Given the description of an element on the screen output the (x, y) to click on. 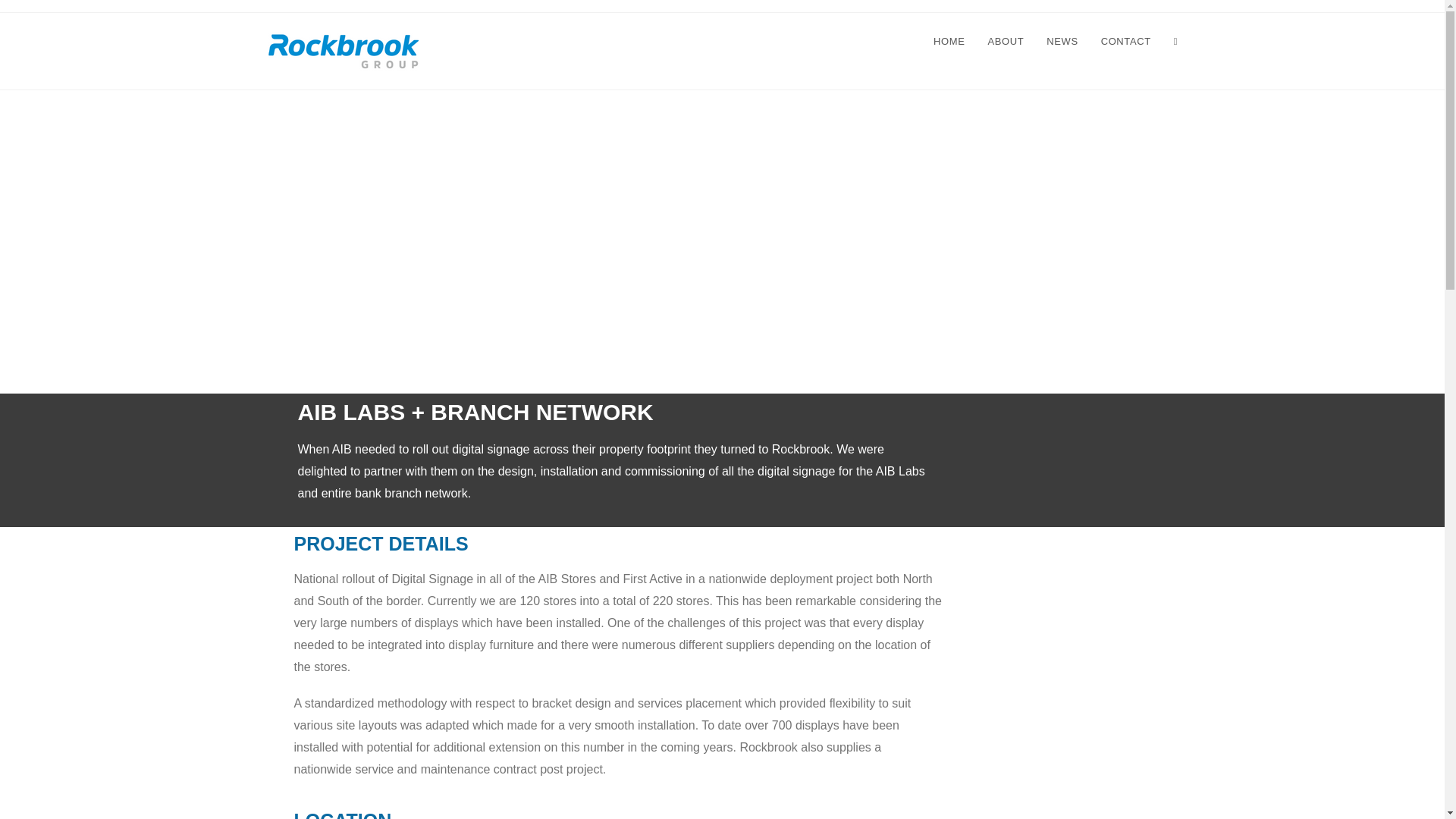
CONTACT (1125, 41)
ABOUT (1005, 41)
NEWS (1062, 41)
HOME (948, 41)
